Given the description of an element on the screen output the (x, y) to click on. 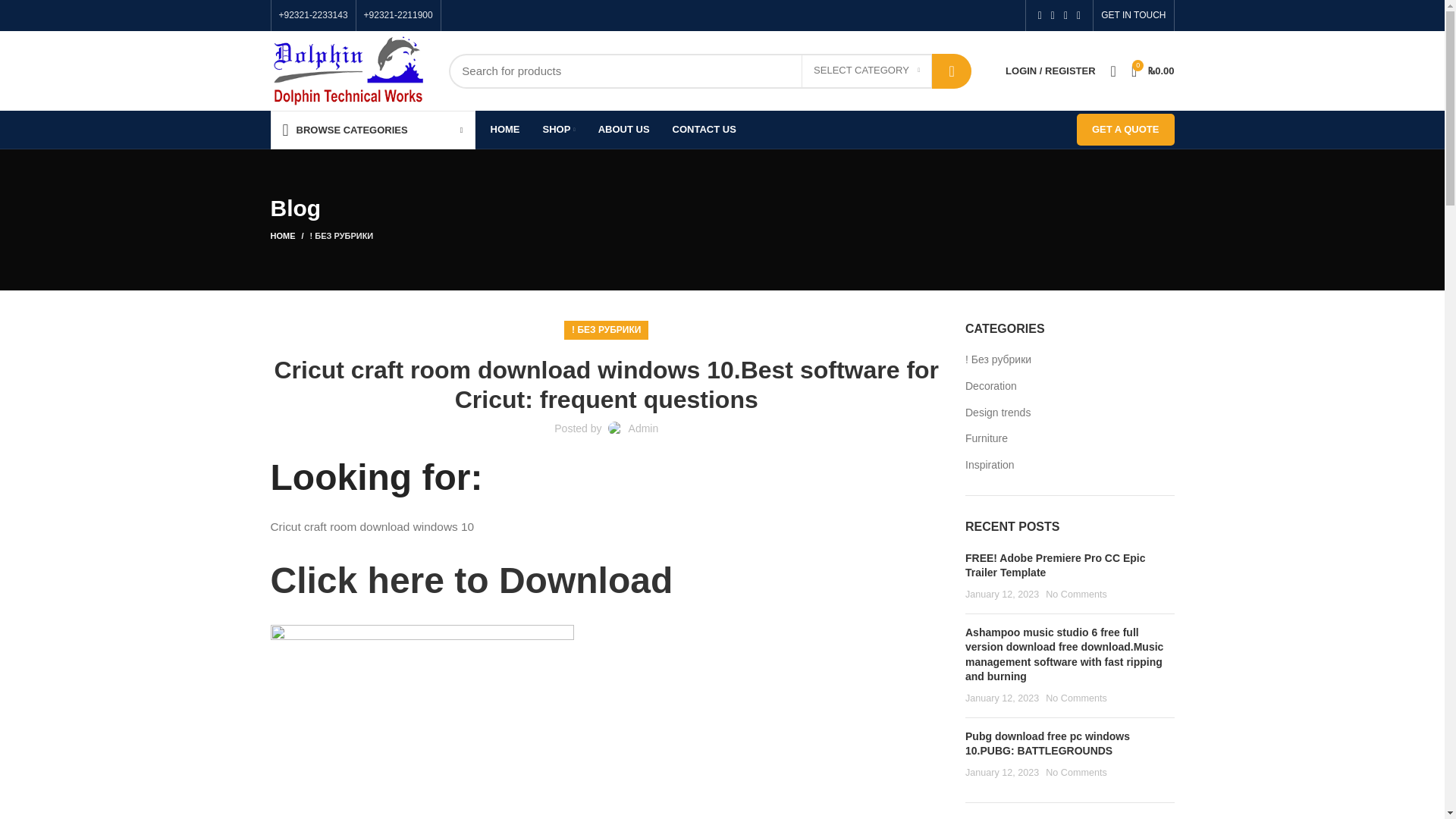
GET IN TOUCH (1133, 15)
SEARCH (951, 70)
SELECT CATEGORY (866, 70)
Shopping cart (1153, 71)
My account (1049, 71)
SELECT CATEGORY (866, 70)
Search for products (709, 70)
